Given the description of an element on the screen output the (x, y) to click on. 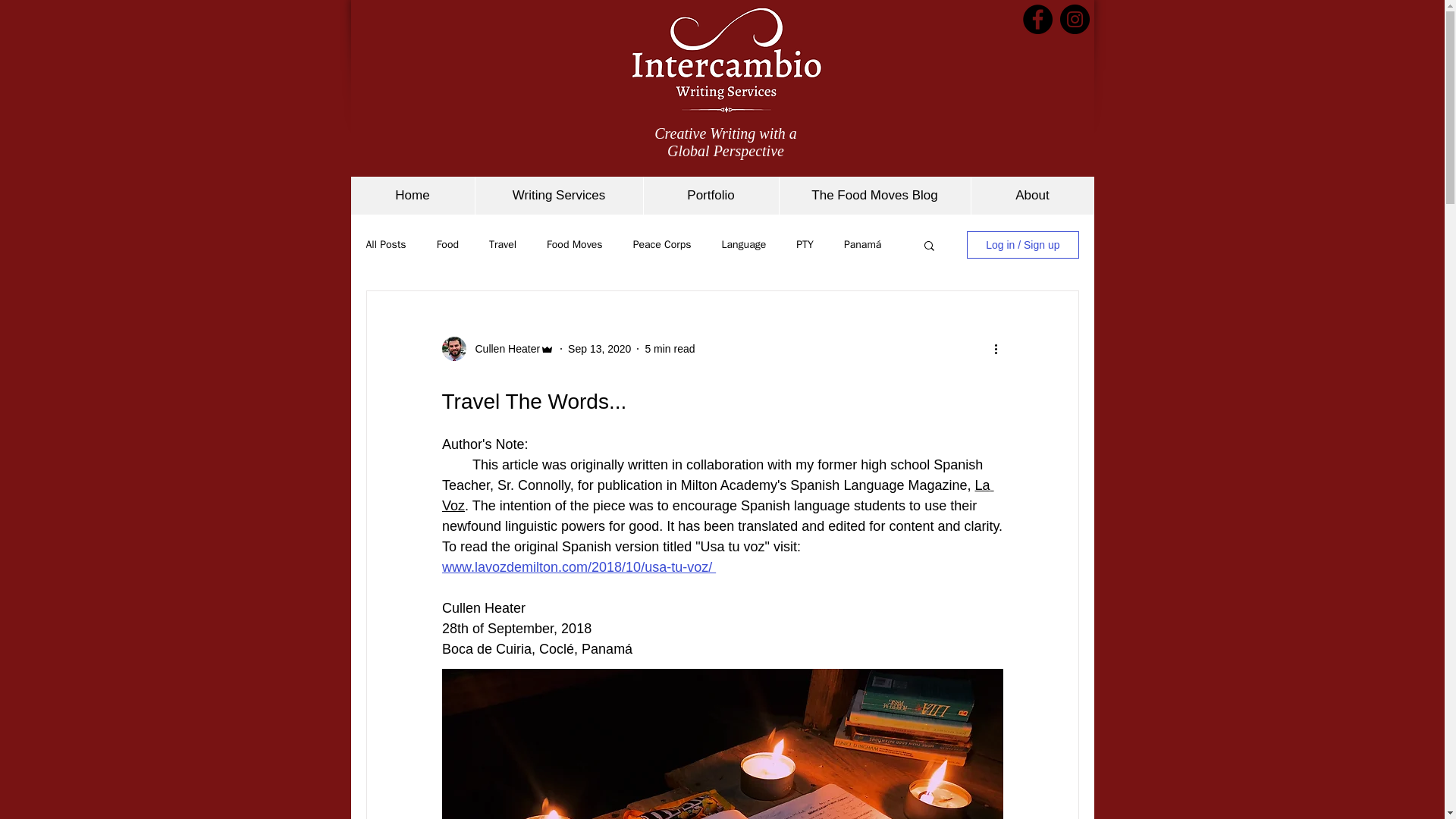
Writing Services (558, 195)
Travel (502, 244)
Language (744, 244)
Portfolio (710, 195)
5 min read (669, 348)
Peace Corps (662, 244)
Cullen Heater (502, 349)
All Posts (385, 244)
Food Moves (574, 244)
About (1032, 195)
